Given the description of an element on the screen output the (x, y) to click on. 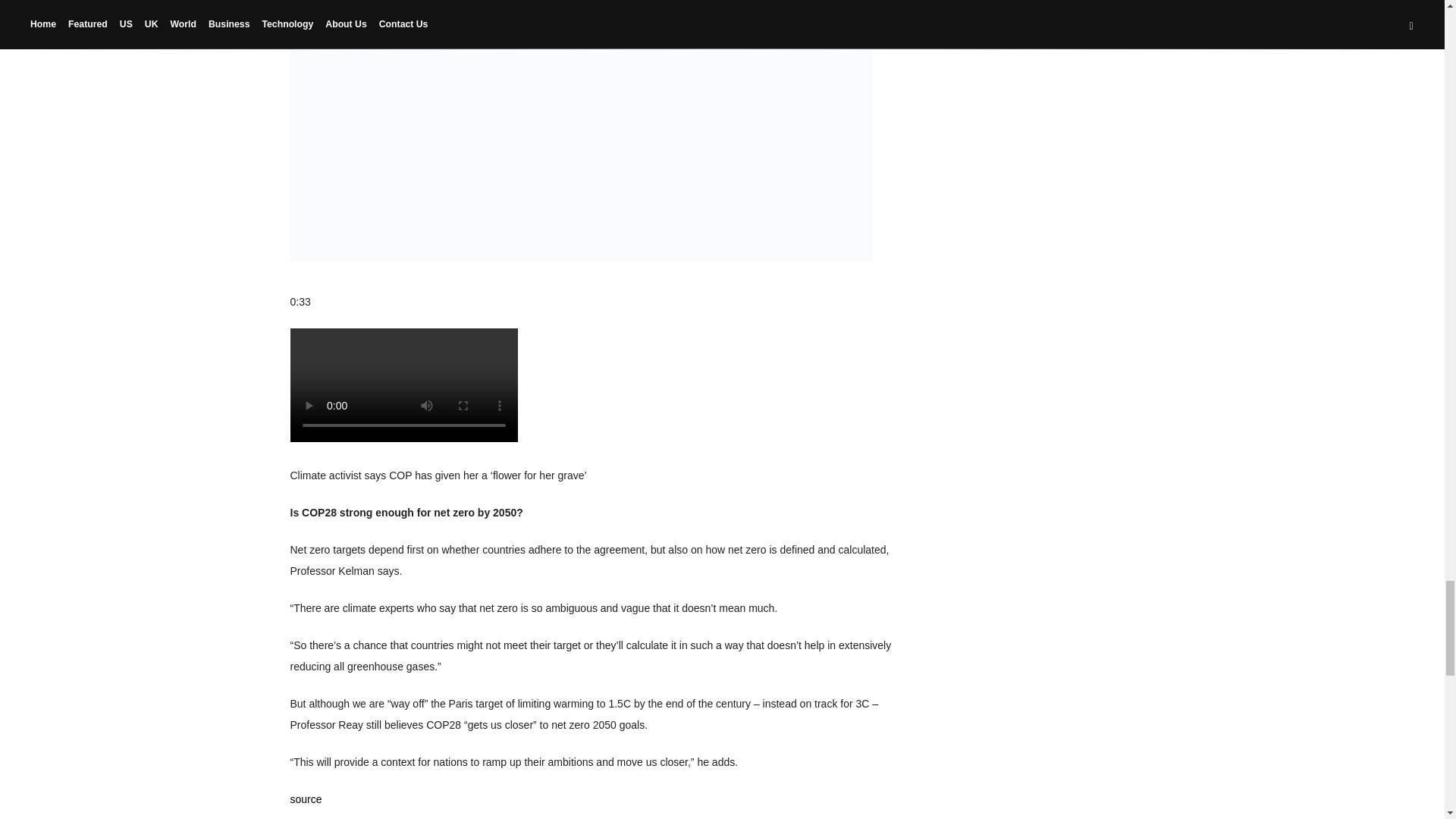
source (305, 799)
